Given the description of an element on the screen output the (x, y) to click on. 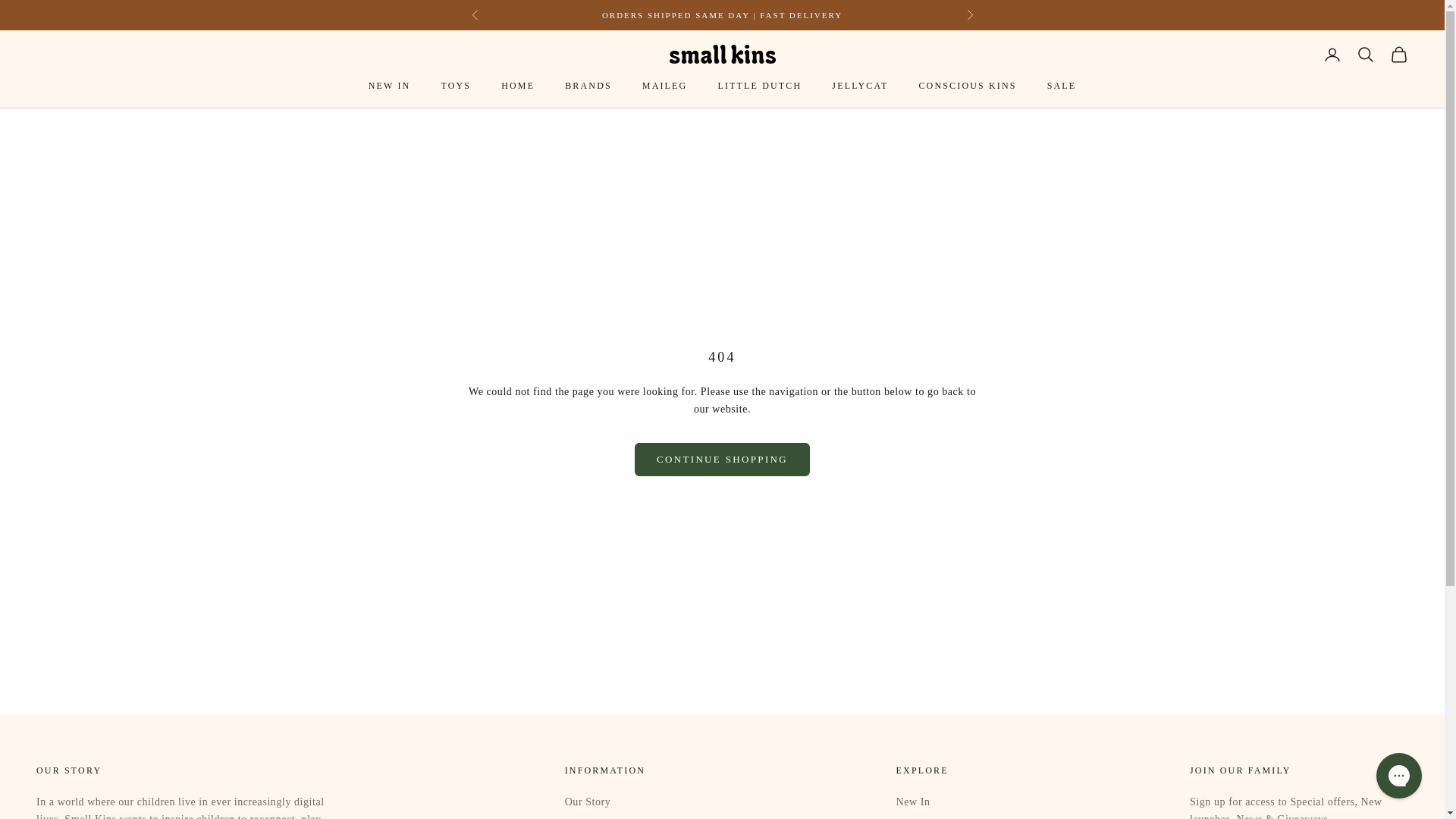
NEW IN (389, 85)
Gorgias live chat messenger (1398, 775)
Previous (474, 15)
Next (968, 15)
Small Kins (721, 54)
